Given the description of an element on the screen output the (x, y) to click on. 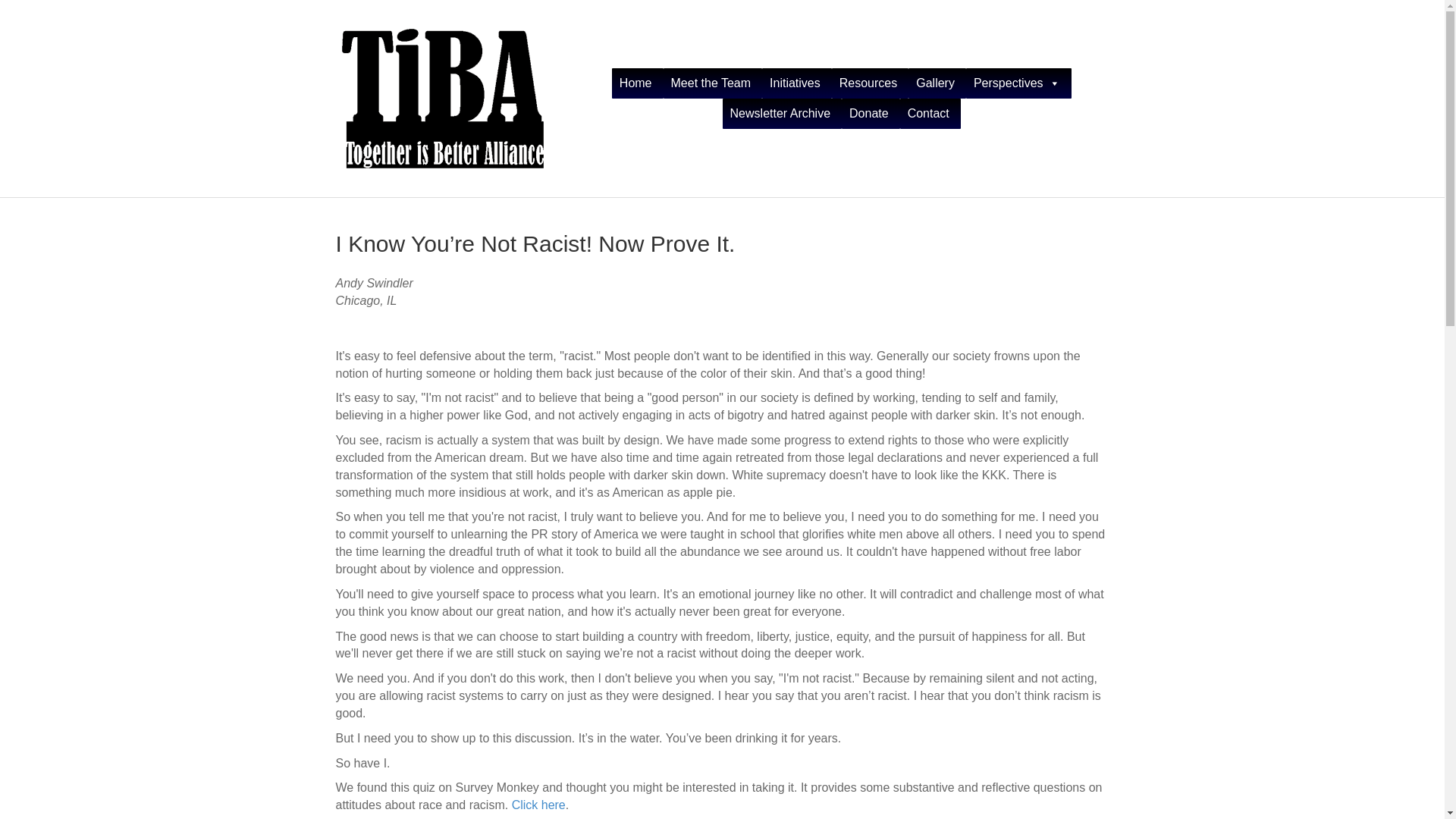
Gallery (937, 82)
Initiatives (796, 82)
Contact (929, 113)
Newsletter Archive (782, 113)
Click here (539, 804)
Donate (870, 113)
Home (637, 82)
Perspectives (1018, 82)
Meet the Team (712, 82)
Resources (869, 82)
